Given the description of an element on the screen output the (x, y) to click on. 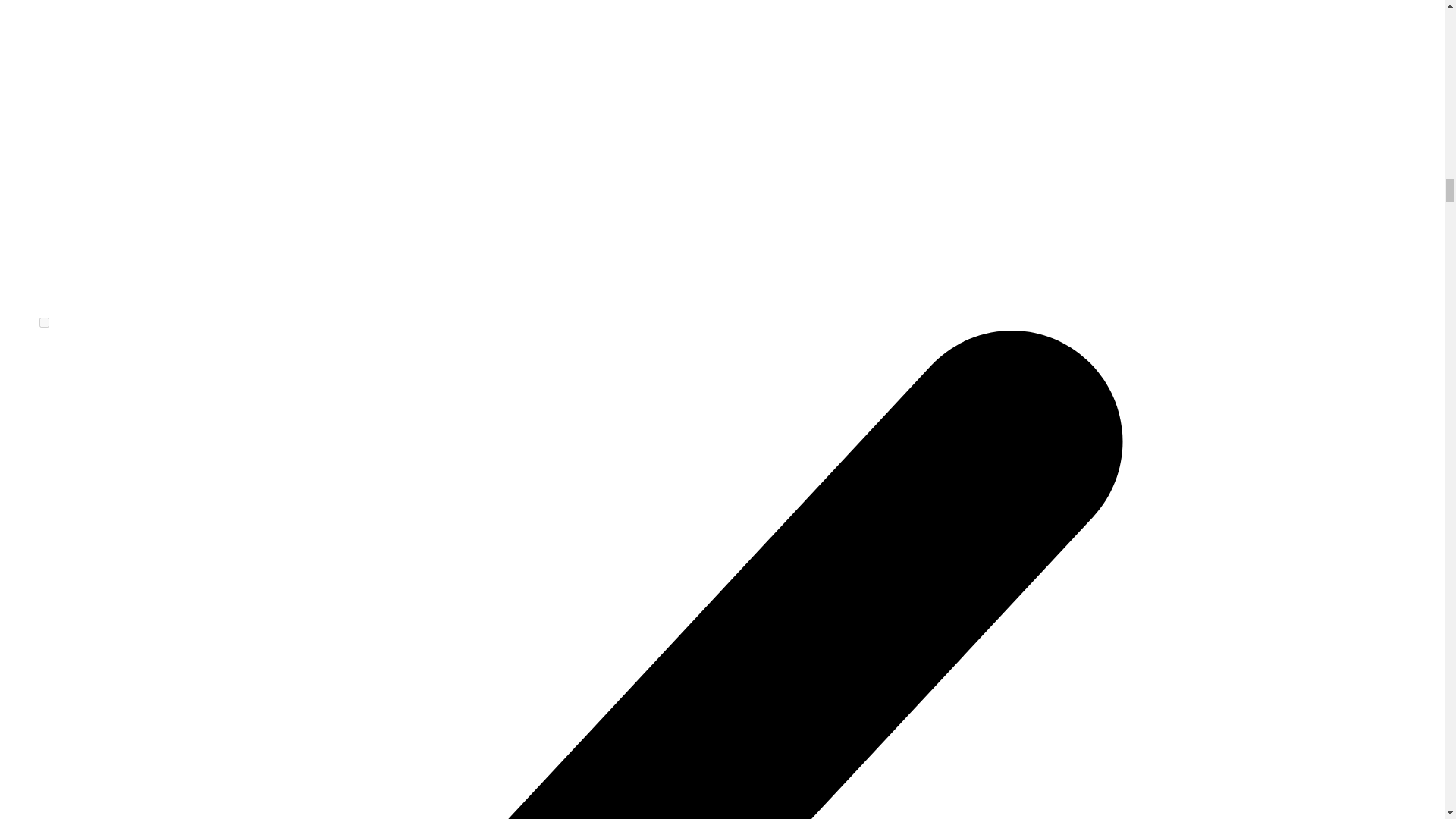
on (44, 322)
